Given the description of an element on the screen output the (x, y) to click on. 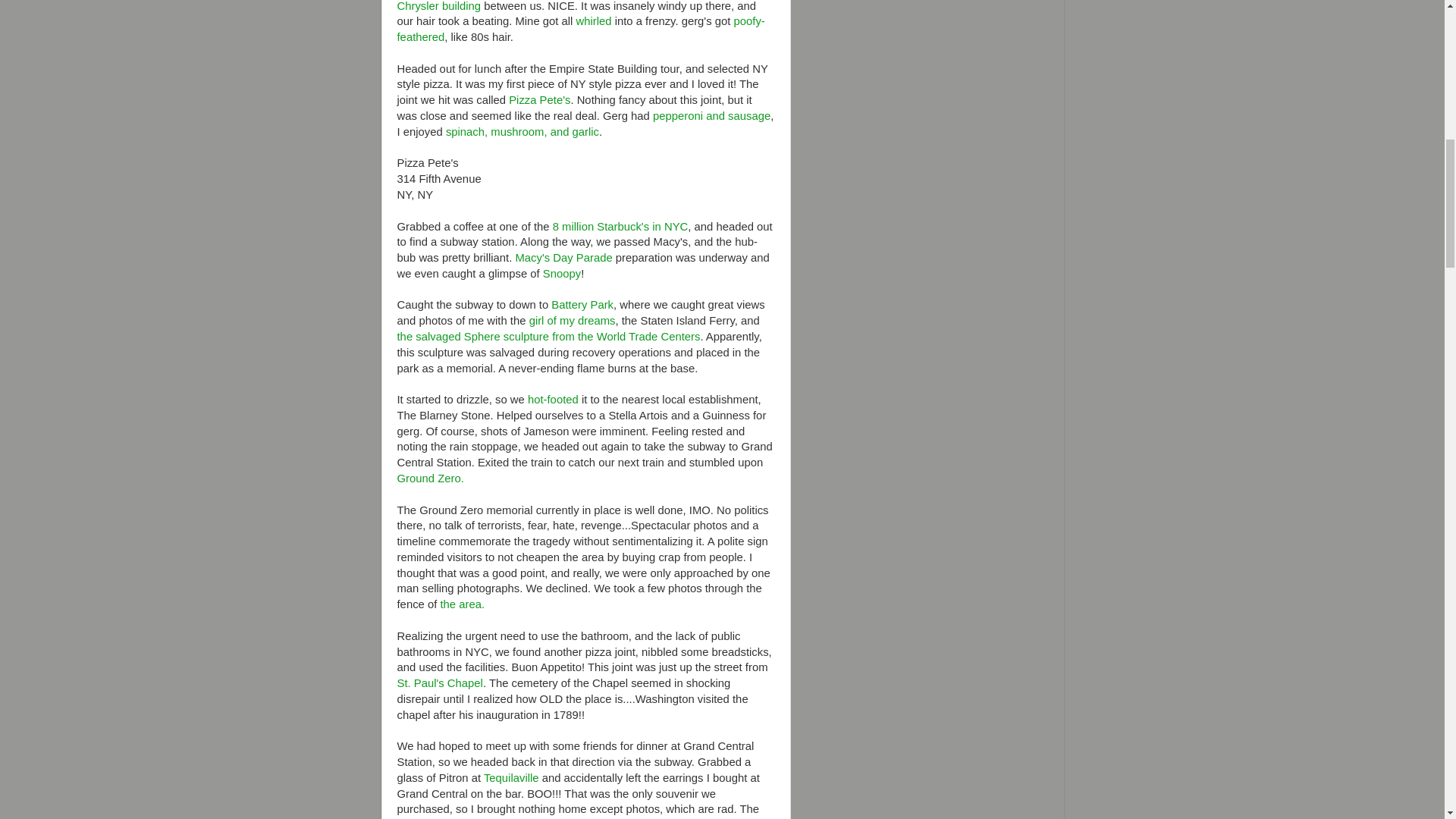
spinach, mushroom, and garlic (521, 132)
Macy's Day Parade (563, 257)
girl of my dreams (572, 320)
poofy-feathered (581, 29)
8 million Starbuck's in NYC (620, 225)
Battery Park (581, 304)
Tequilaville (510, 777)
Chrysler building (439, 6)
Ground Zero. (430, 478)
St. Paul's Chapel (440, 683)
the salvaged Sphere sculpture from the World Trade Centers (548, 336)
hot-footed (552, 399)
Pizza Pete's (539, 100)
whirled (593, 21)
pepperoni and sausage (711, 115)
